Given the description of an element on the screen output the (x, y) to click on. 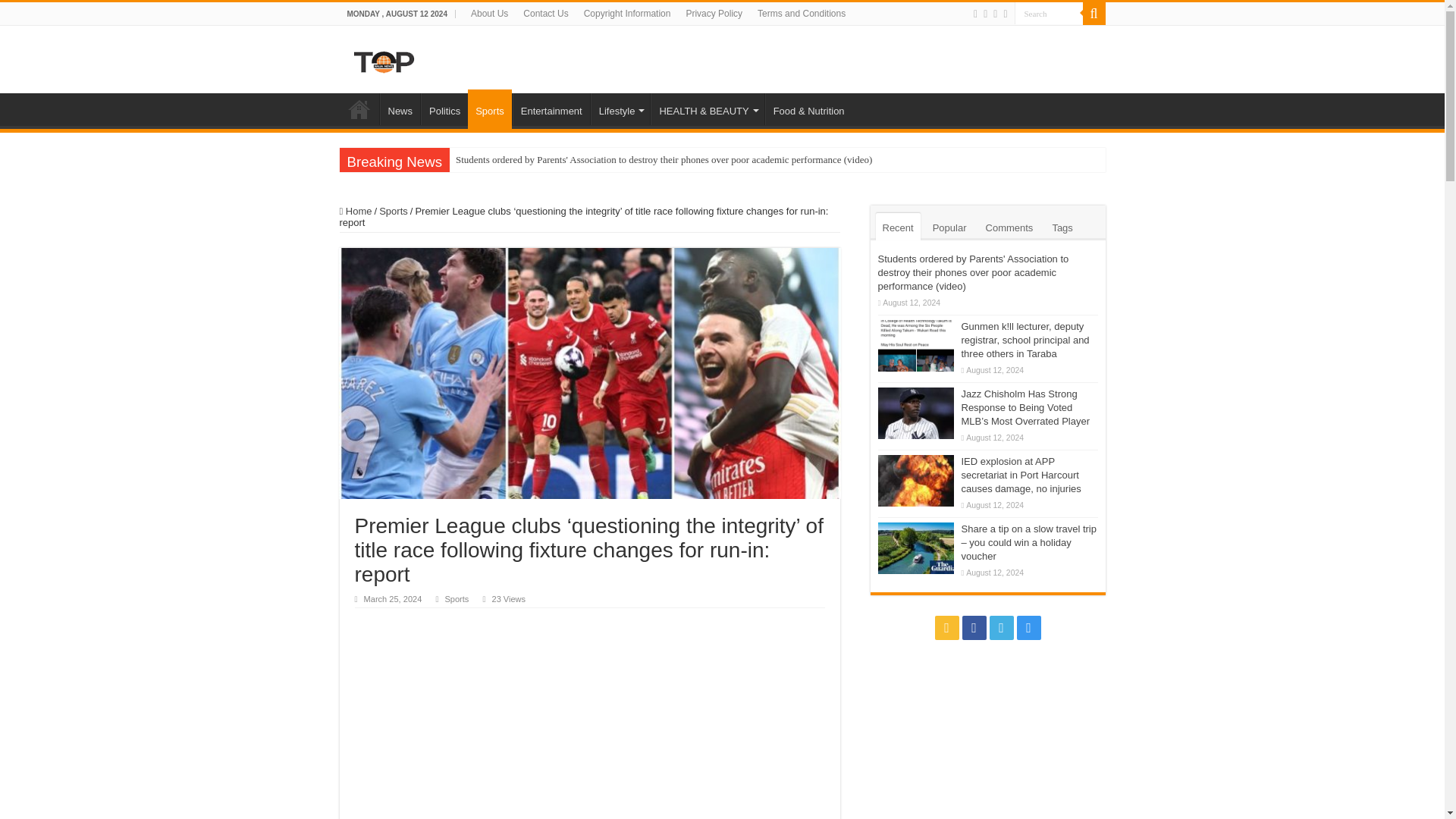
Entertainment (550, 109)
Search (1048, 13)
Search (1048, 13)
About Us (489, 13)
Search (1048, 13)
Privacy Policy (713, 13)
Home (358, 109)
Search (1094, 13)
Politics (443, 109)
Terms and Conditions (801, 13)
